Given the description of an element on the screen output the (x, y) to click on. 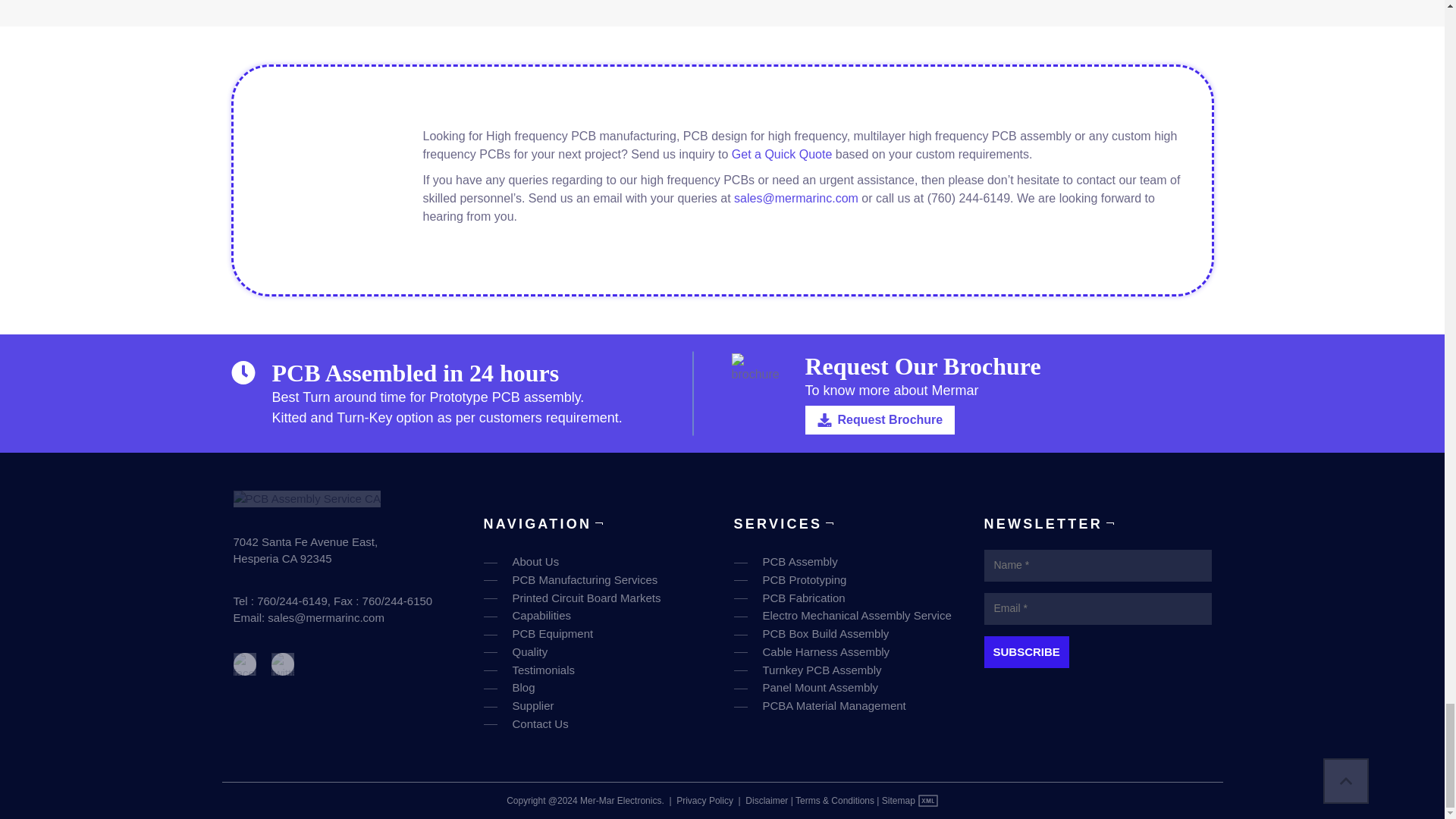
Subscribe (1026, 651)
twitter (282, 663)
facebook (244, 663)
